Given the description of an element on the screen output the (x, y) to click on. 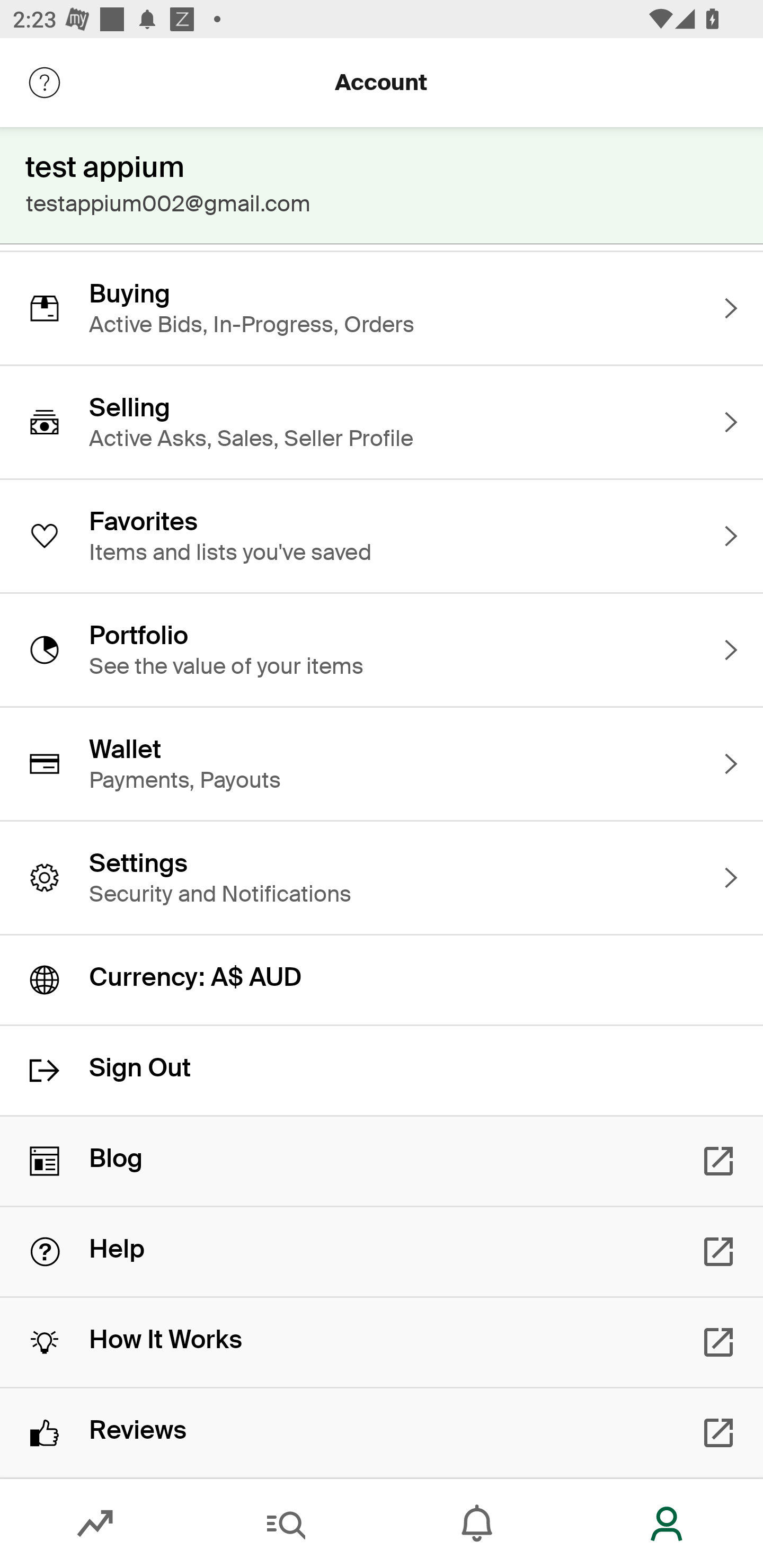
Buying Active Bids, In-Progress, Orders (381, 307)
Selling Active Asks, Sales, Seller Profile (381, 421)
Favorites Items and lists you've saved (381, 535)
Portfolio See the value of your items (381, 649)
Wallet Payments, Payouts (381, 763)
Settings Security and Notifications (381, 877)
Currency: A$ AUD (381, 979)
Sign Out (381, 1069)
Blog (381, 1160)
Help (381, 1251)
How It Works (381, 1342)
Reviews (381, 1432)
Market (95, 1523)
Search (285, 1523)
Inbox (476, 1523)
